Given the description of an element on the screen output the (x, y) to click on. 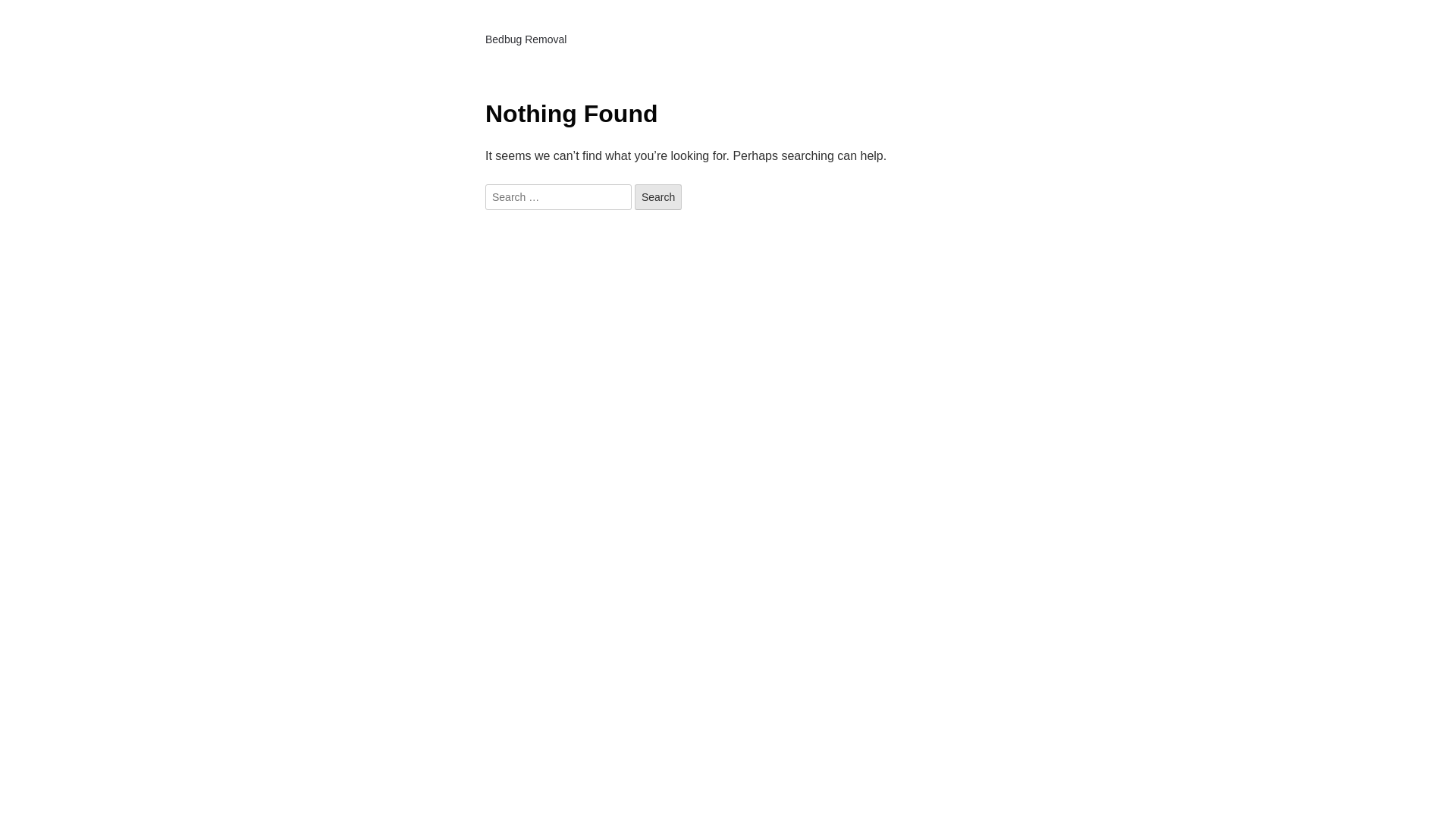
Search Element type: text (657, 197)
Bedbug Removal Element type: text (525, 39)
